Given the description of an element on the screen output the (x, y) to click on. 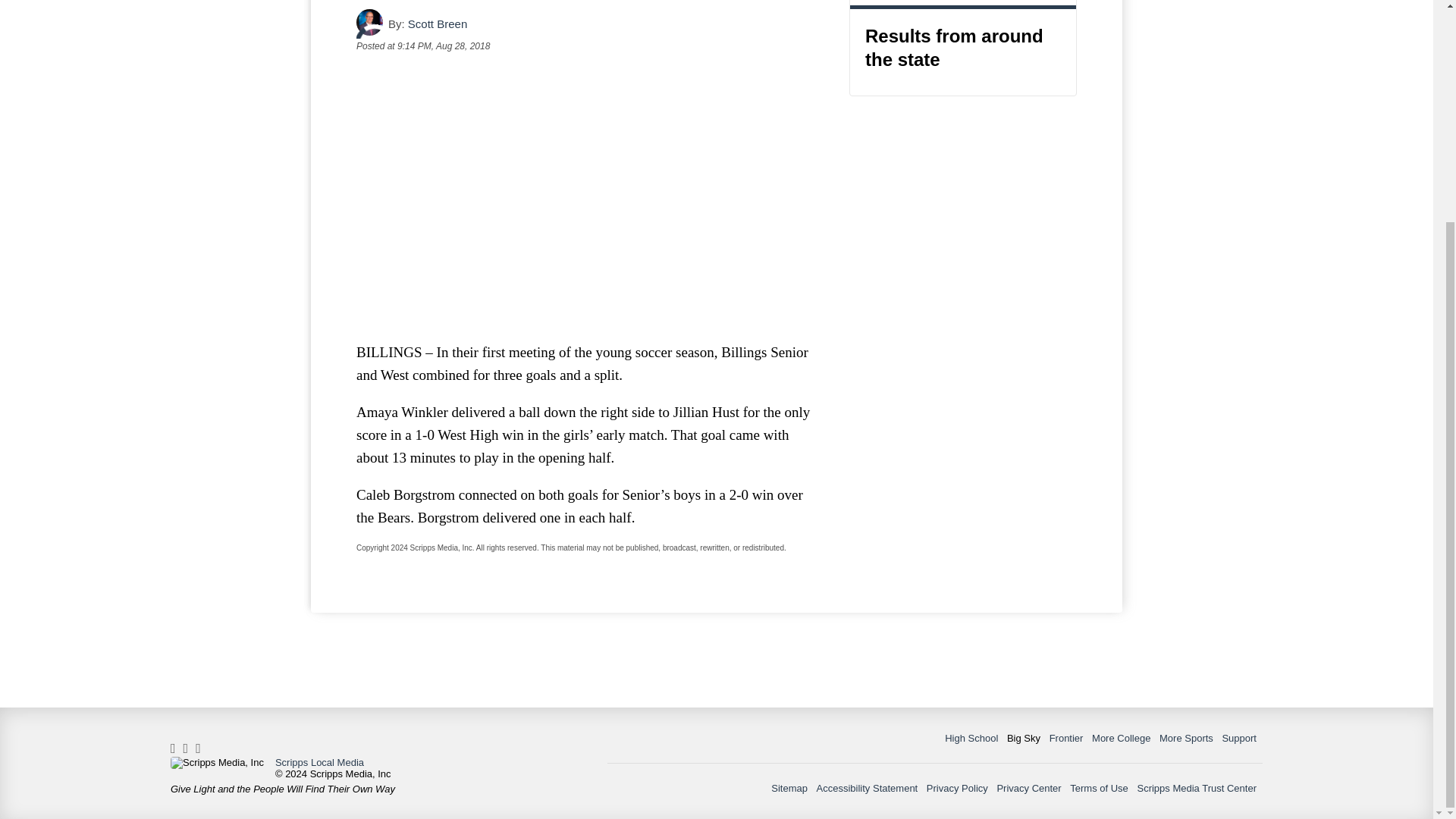
YouTube player (587, 196)
